Given the description of an element on the screen output the (x, y) to click on. 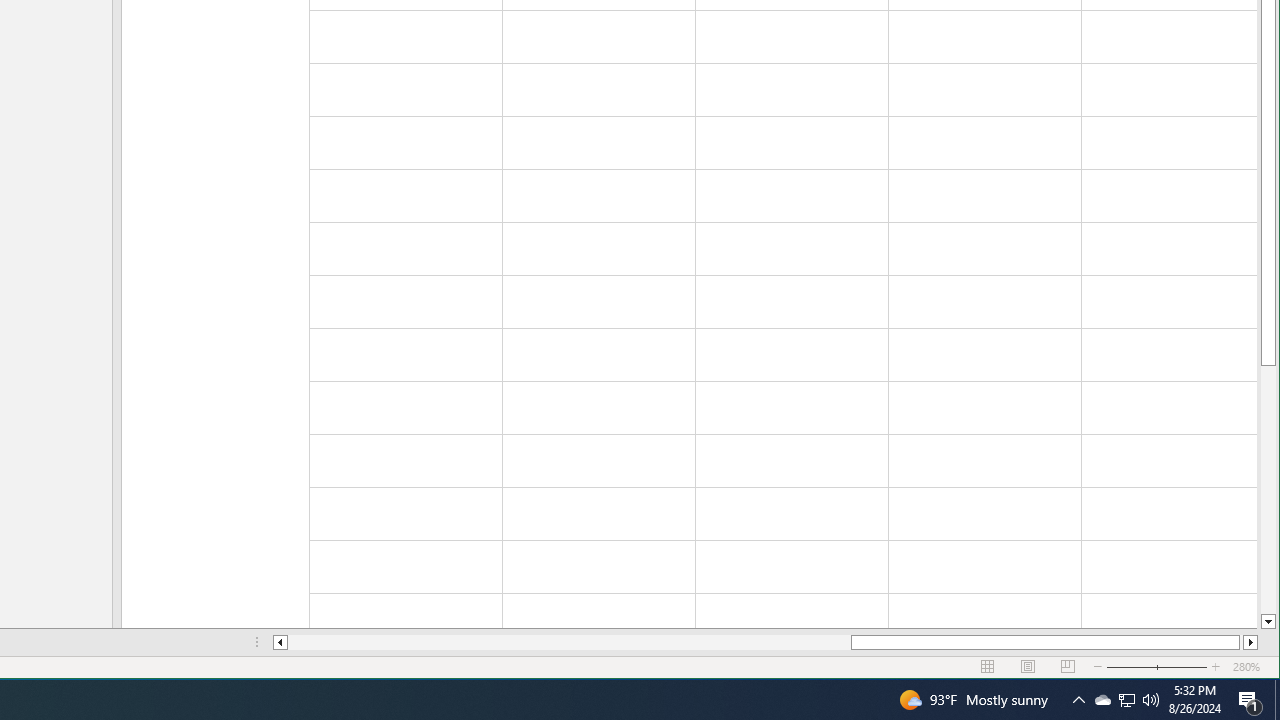
Action Center, 1 new notification (1250, 699)
User Promoted Notification Area (1126, 699)
